Given the description of an element on the screen output the (x, y) to click on. 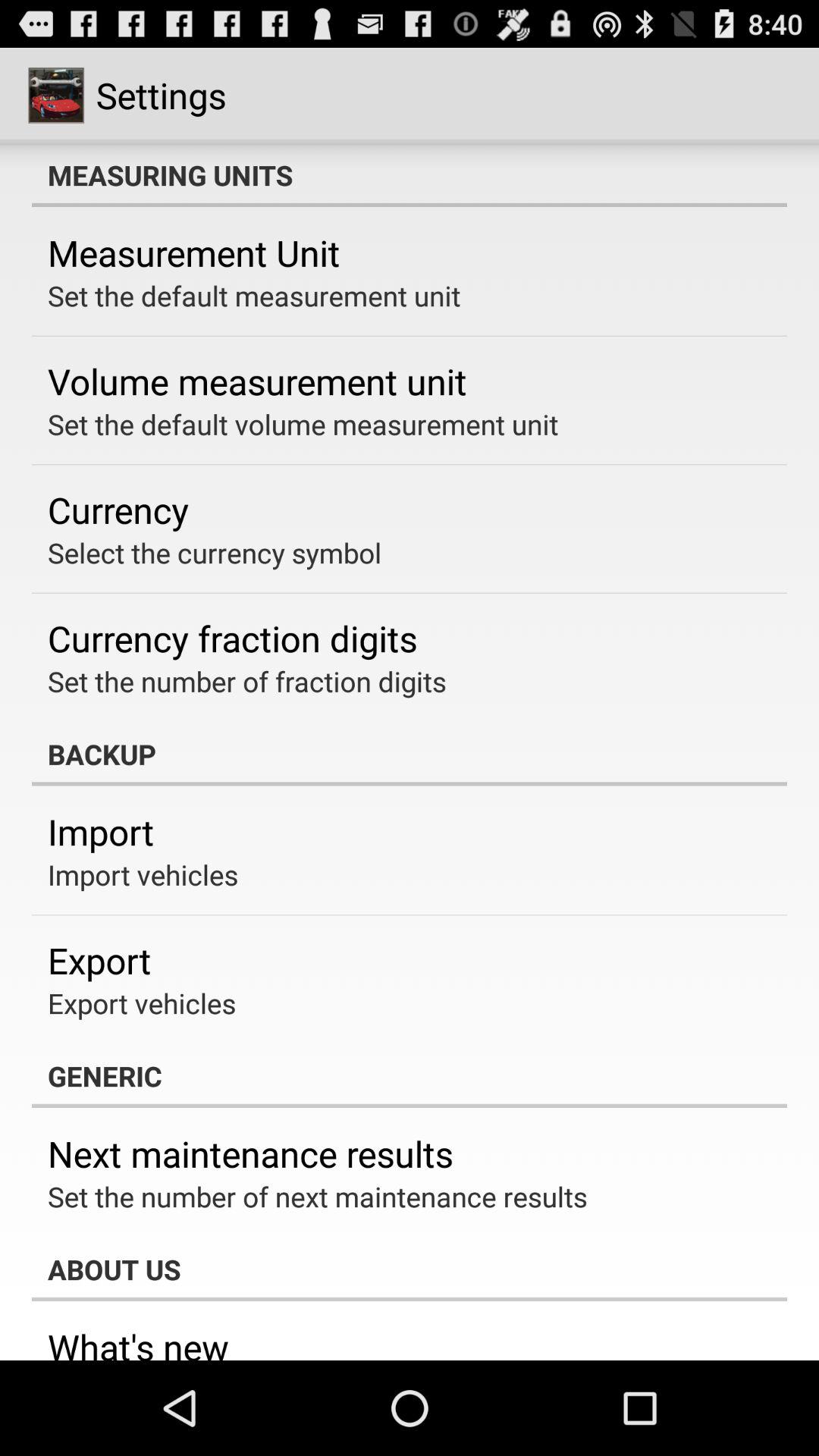
click about us app (409, 1269)
